Given the description of an element on the screen output the (x, y) to click on. 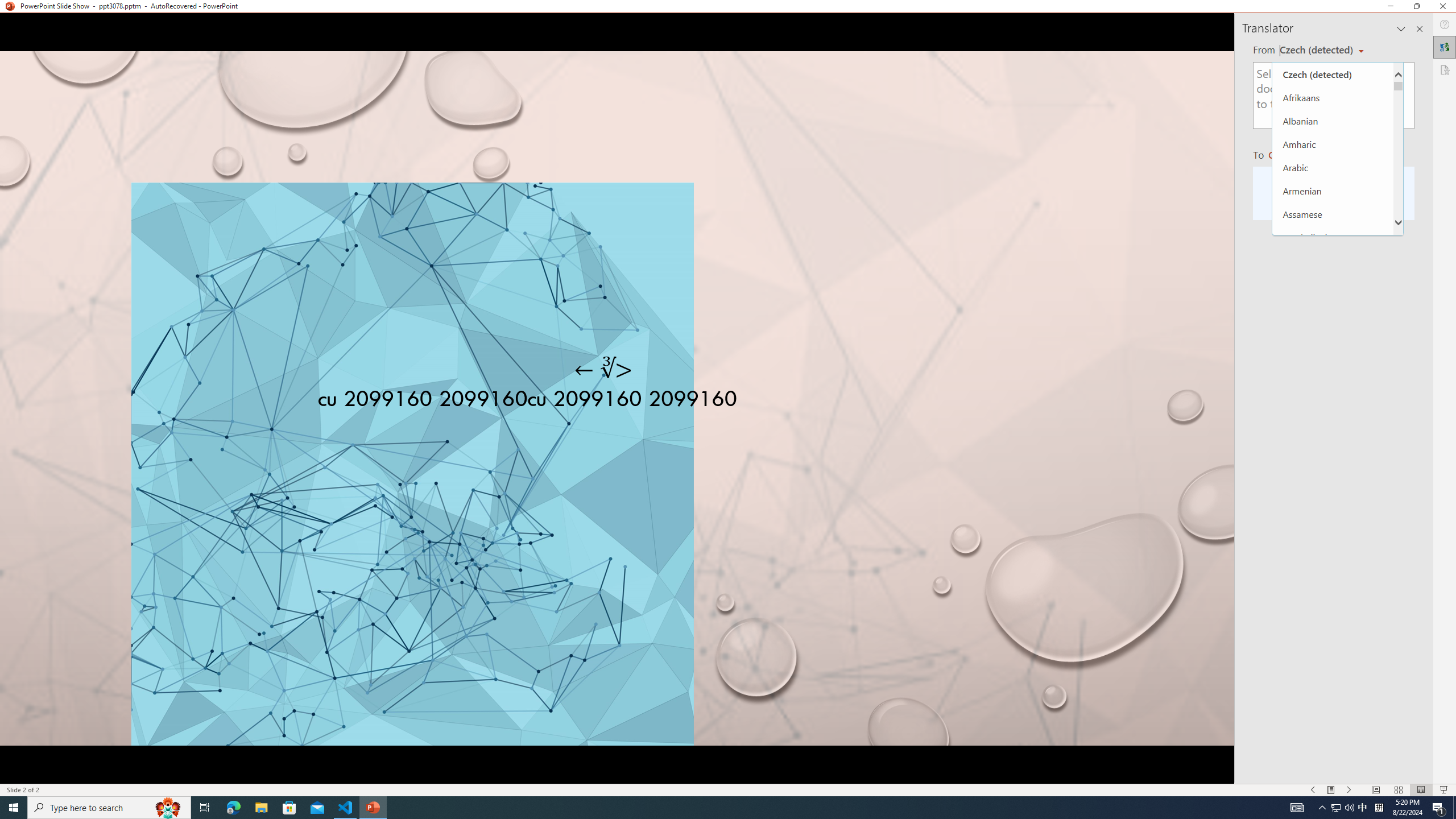
Adjust indents and spacing - Microsoft Support (23, 348)
